Given the description of an element on the screen output the (x, y) to click on. 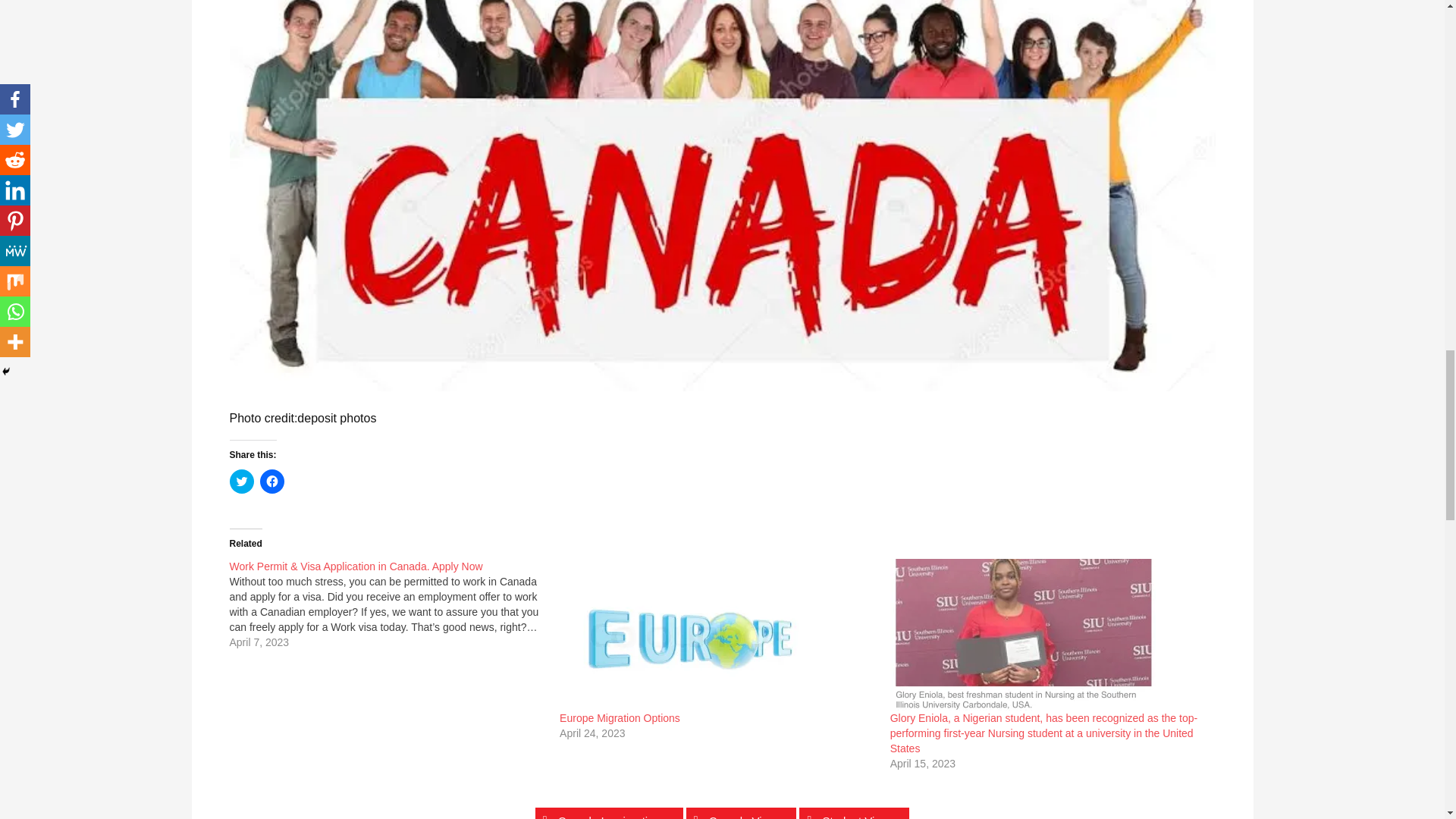
Europe Migration Options (619, 717)
Click to share on Facebook (271, 481)
Click to share on Twitter (240, 481)
